Given the description of an element on the screen output the (x, y) to click on. 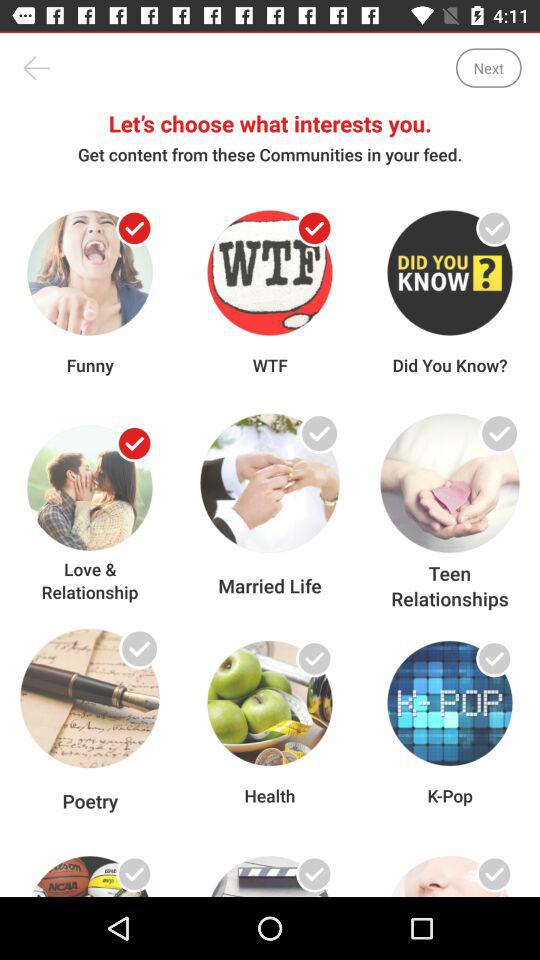
choose the content you wan na see in the feed (314, 228)
